Given the description of an element on the screen output the (x, y) to click on. 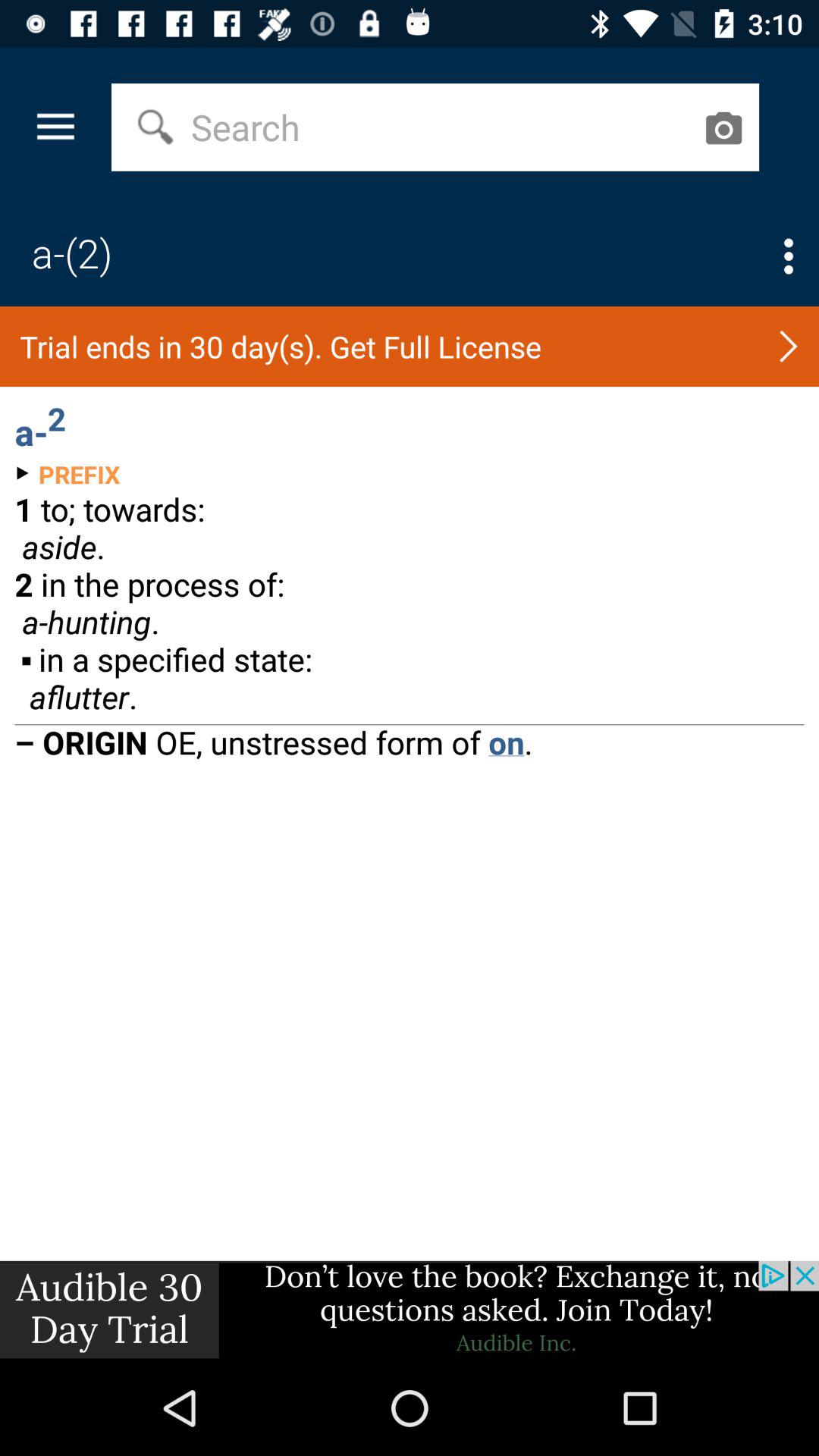
open options (788, 256)
